Given the description of an element on the screen output the (x, y) to click on. 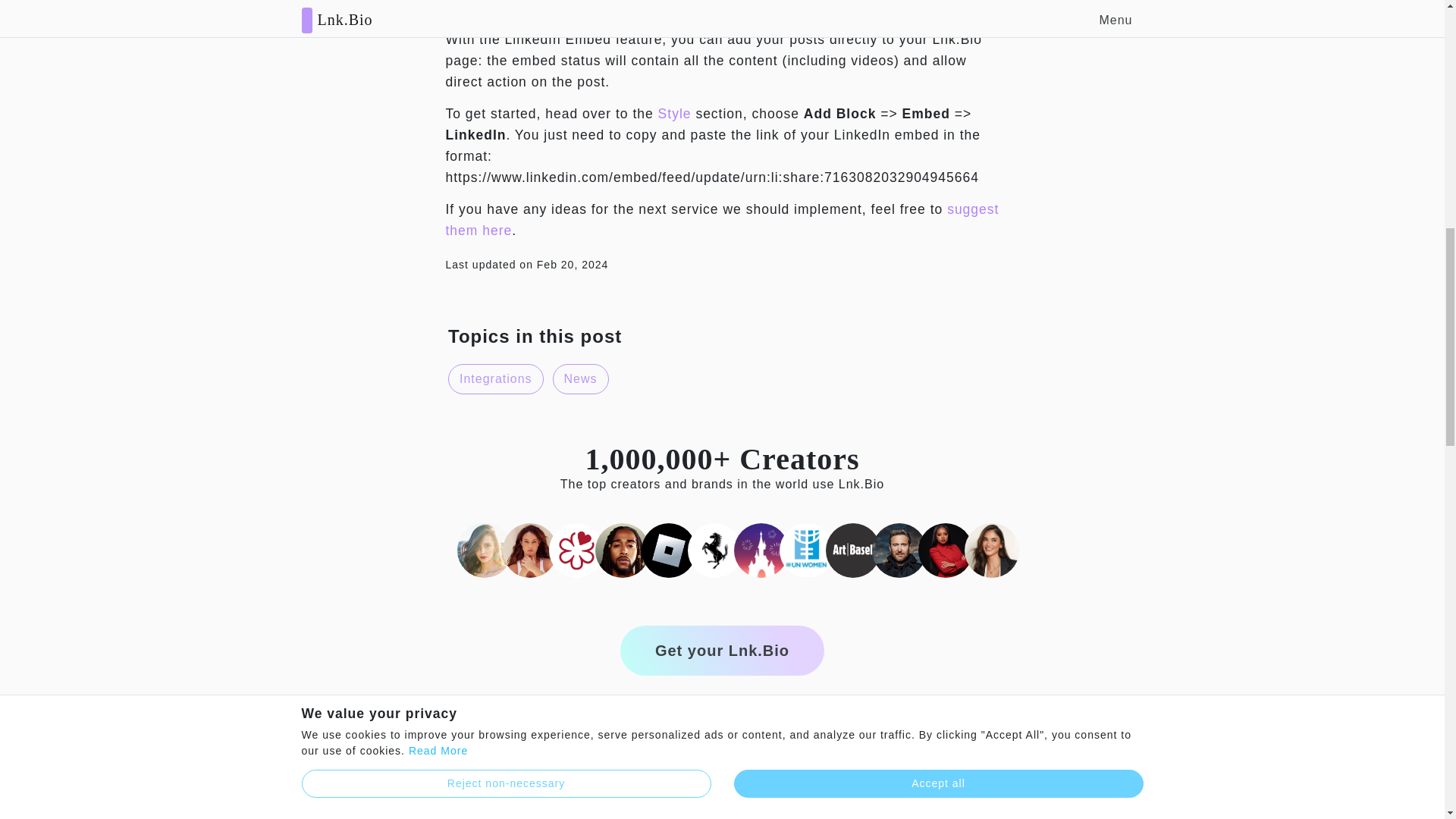
davidguetta (899, 549)
disneylandparis (761, 549)
News (579, 378)
omarion (622, 549)
paollaoliveirareal (529, 549)
Integrations (495, 378)
ferrari (714, 549)
LinkedIn (544, 7)
unwomen (806, 549)
artbasel (852, 549)
tamikadmallory (945, 549)
Style (674, 113)
piawurtzbach (991, 549)
nina (484, 549)
Get your Lnk.Bio (722, 650)
